Given the description of an element on the screen output the (x, y) to click on. 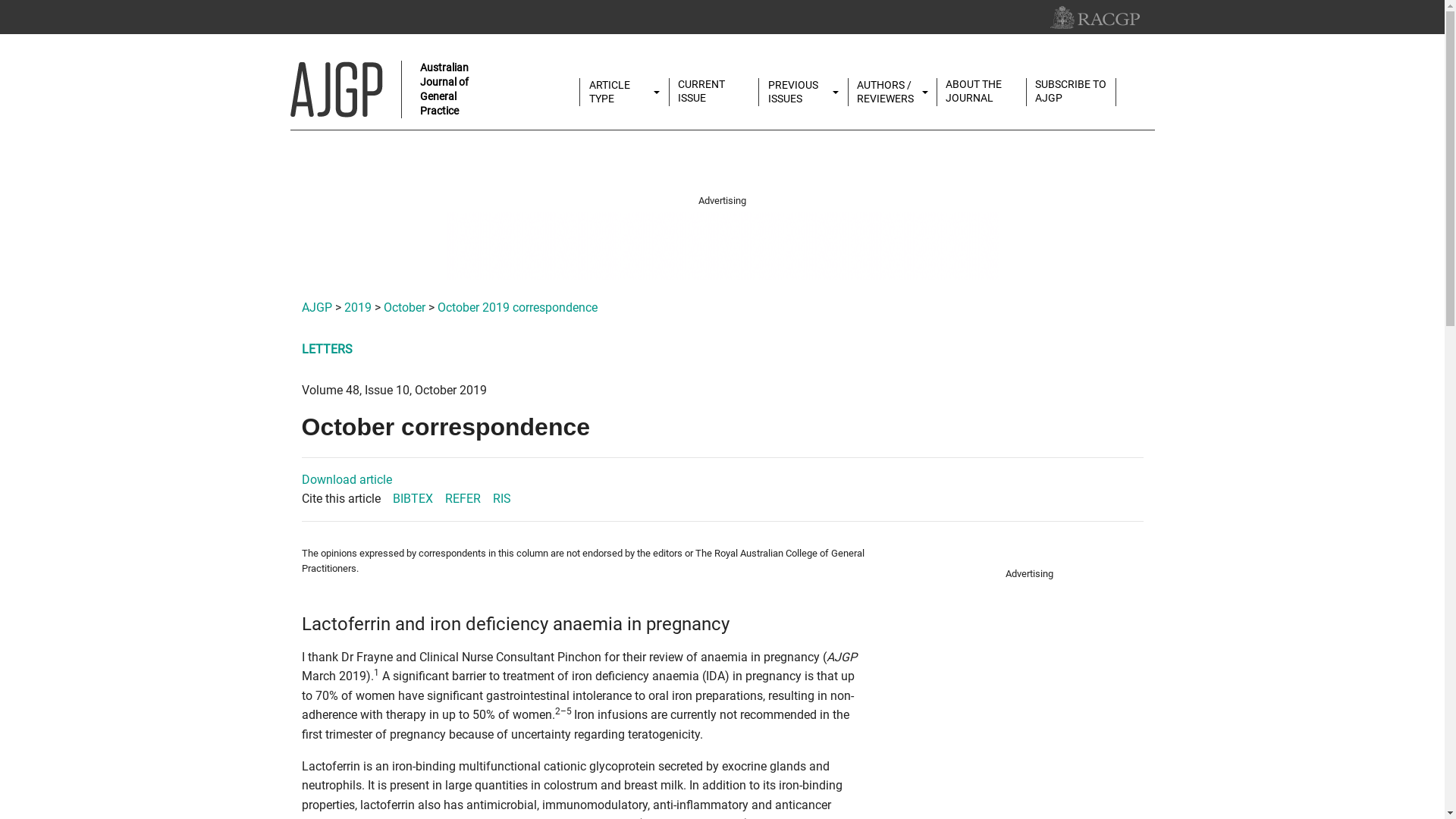
  Search Element type: text (1143, 85)
BIBTEX Element type: text (412, 498)
ARTICLE TYPE Element type: text (624, 92)
RIS Element type: text (501, 498)
October Element type: text (404, 307)
Australian
Journal of
General
Practice Element type: text (381, 89)
CURRENT ISSUE Element type: text (713, 91)
AJGP Element type: text (316, 307)
SUBSCRIBE TO AJGP Element type: text (1070, 91)
3rd party ad content Element type: hover (721, 245)
AUTHORS / REVIEWERS Element type: text (892, 92)
2019 Element type: text (357, 307)
REFER Element type: text (462, 498)
Download article Element type: text (346, 479)
ABOUT THE JOURNAL Element type: text (981, 91)
LETTERS Element type: text (326, 349)
October 2019 correspondence Element type: text (516, 307)
AJGP Logo Element type: hover (335, 89)
PREVIOUS ISSUES Element type: text (803, 92)
